Given the description of an element on the screen output the (x, y) to click on. 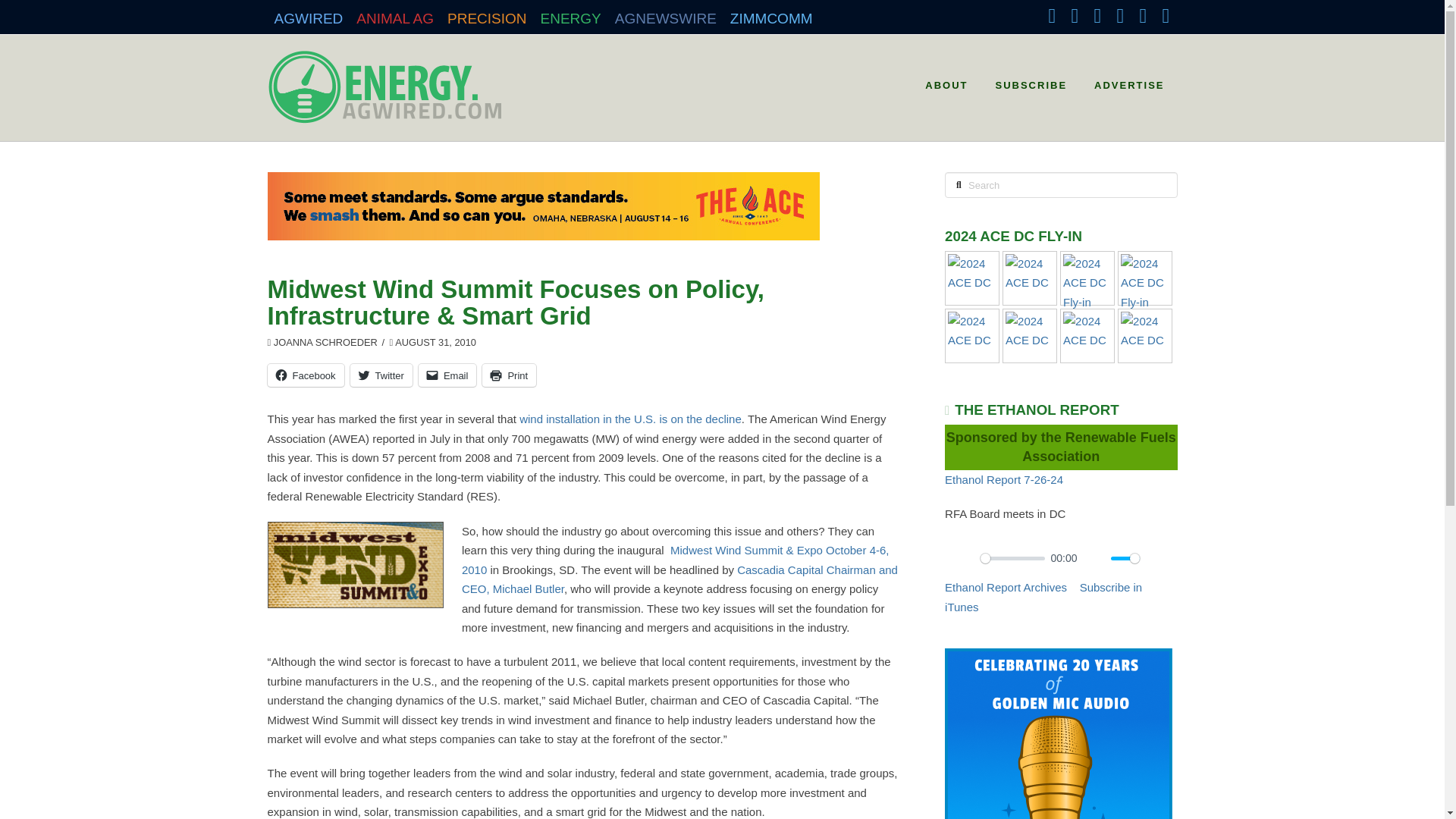
Flickr (1142, 15)
Instagram (1119, 15)
ADVERTISE (1128, 80)
RSS (1165, 15)
Facebook (304, 374)
ANIMAL AG (395, 13)
Click to share on Facebook (304, 374)
Email (448, 374)
PRECISION (487, 13)
Facebook (1051, 15)
